Given the description of an element on the screen output the (x, y) to click on. 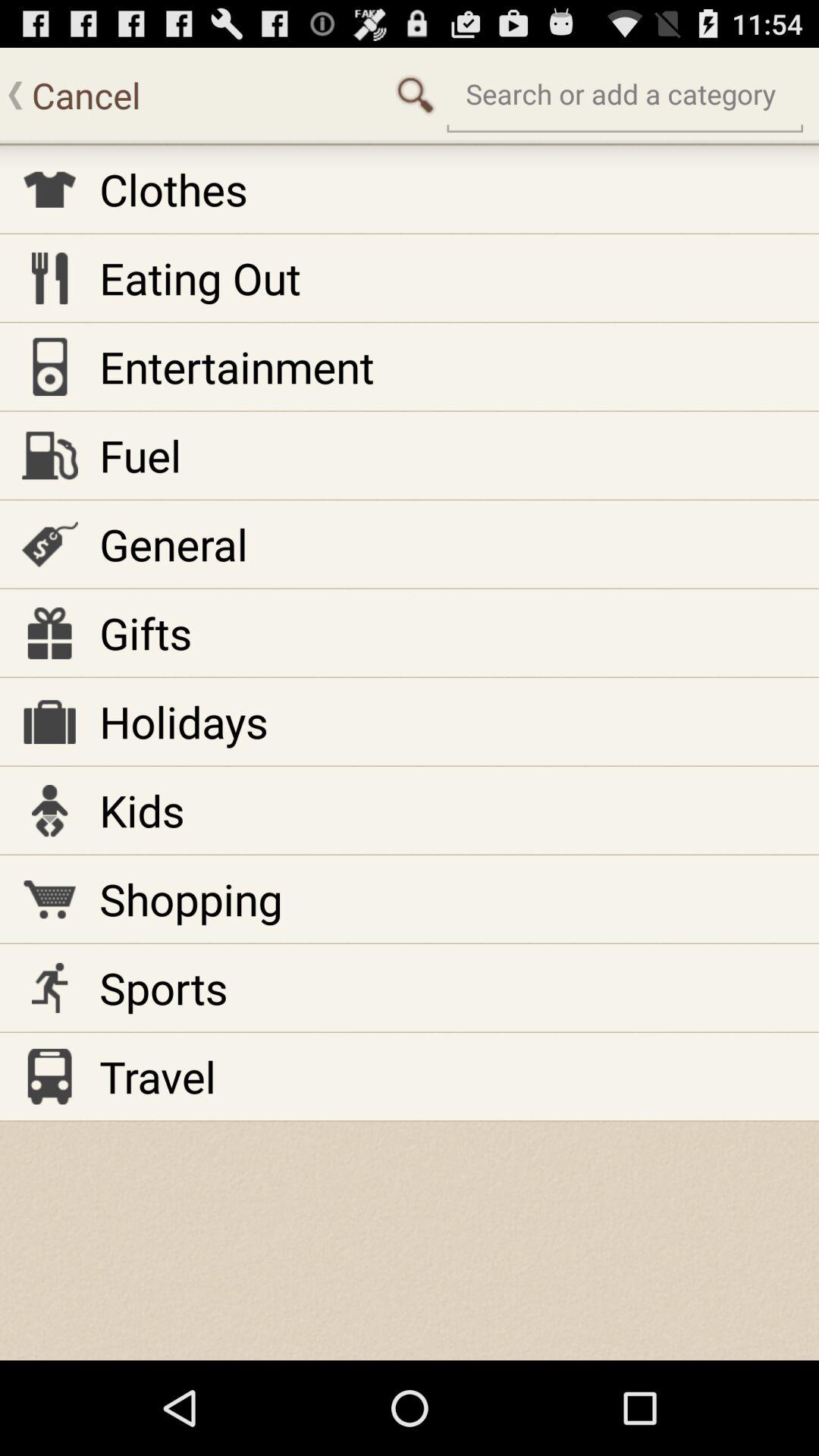
jump until kids item (141, 810)
